Given the description of an element on the screen output the (x, y) to click on. 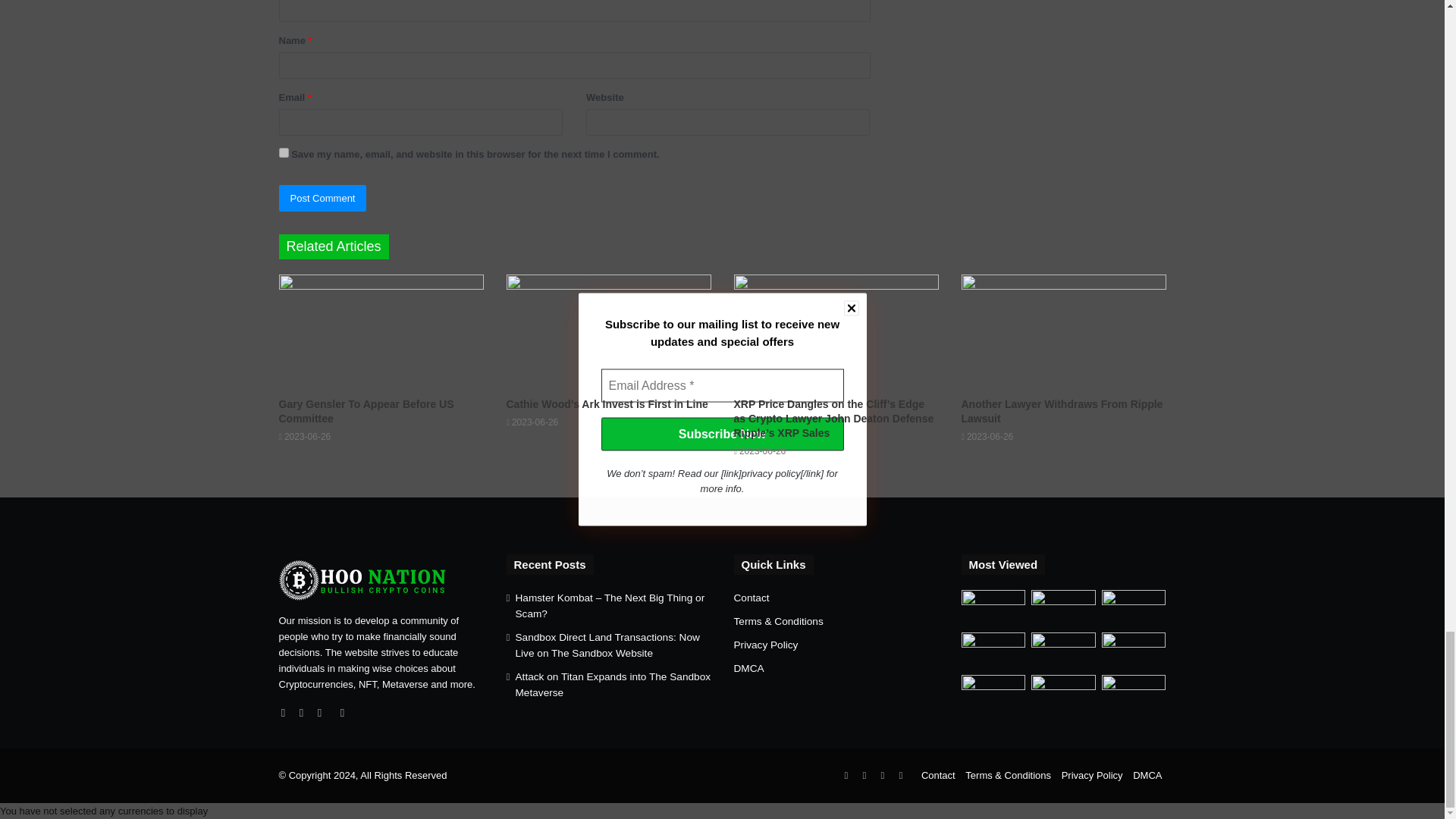
yes (283, 153)
Post Comment (322, 198)
